Given the description of an element on the screen output the (x, y) to click on. 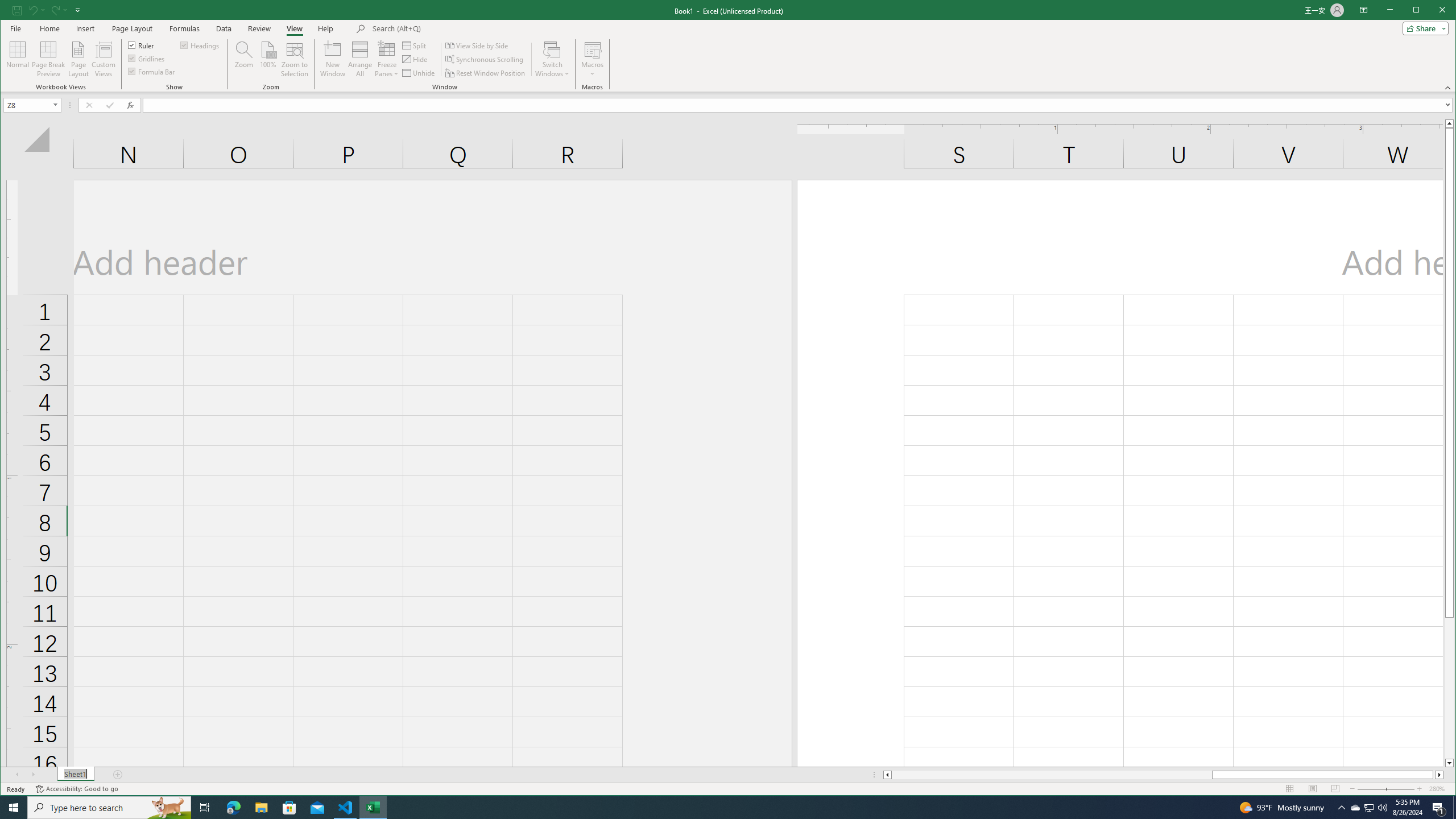
Q2790: 100% (1382, 807)
Freeze Panes (387, 59)
Maximize (1432, 11)
Excel - 1 running window (373, 807)
Search highlights icon opens search home window (167, 807)
Gridlines (147, 57)
Microsoft Store (289, 807)
